Given the description of an element on the screen output the (x, y) to click on. 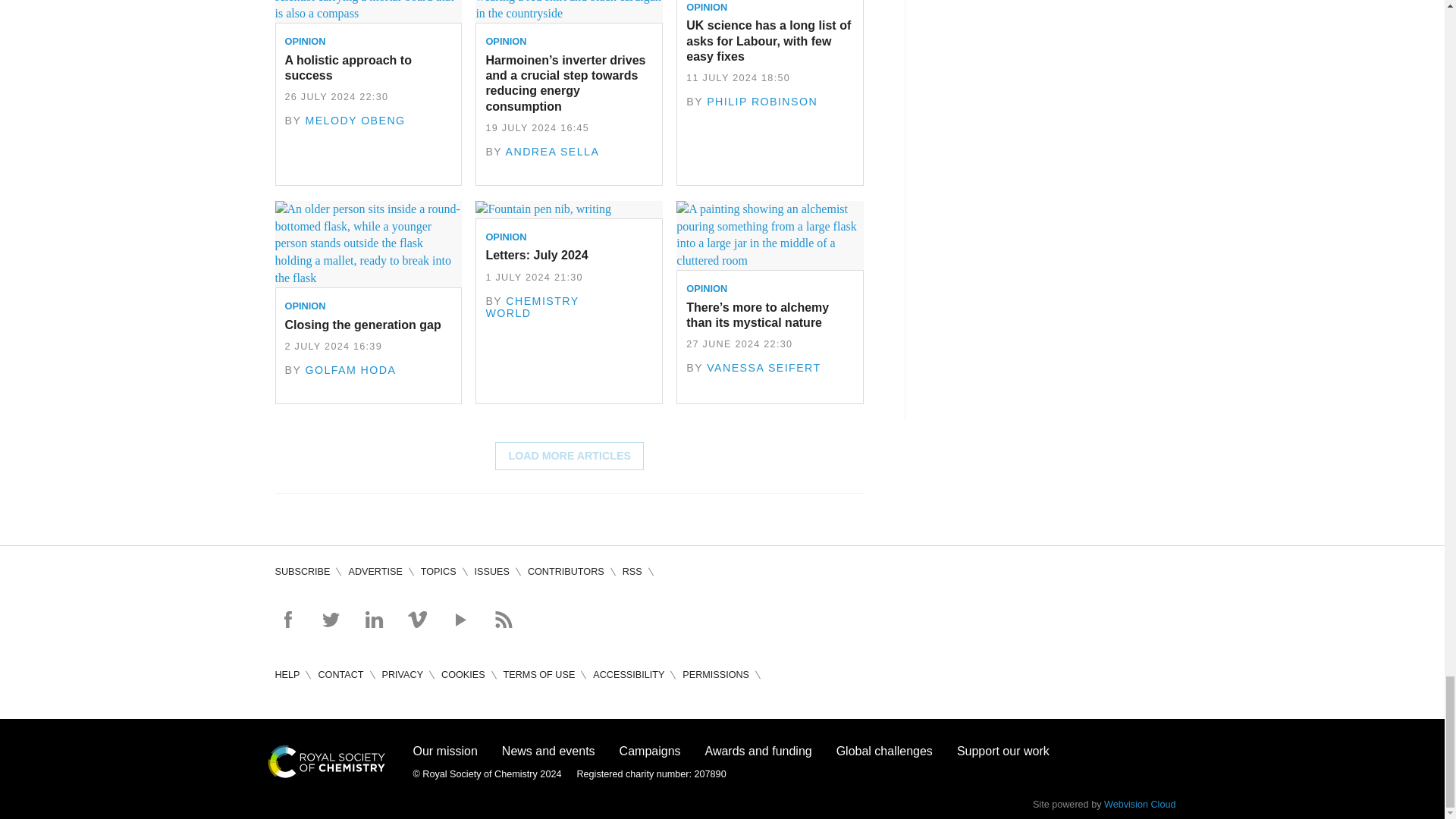
Follow on Twitter (330, 619)
Follow on Facebook (287, 619)
Connect on Linked in (373, 619)
Watch on Vimeo (416, 619)
